Given the description of an element on the screen output the (x, y) to click on. 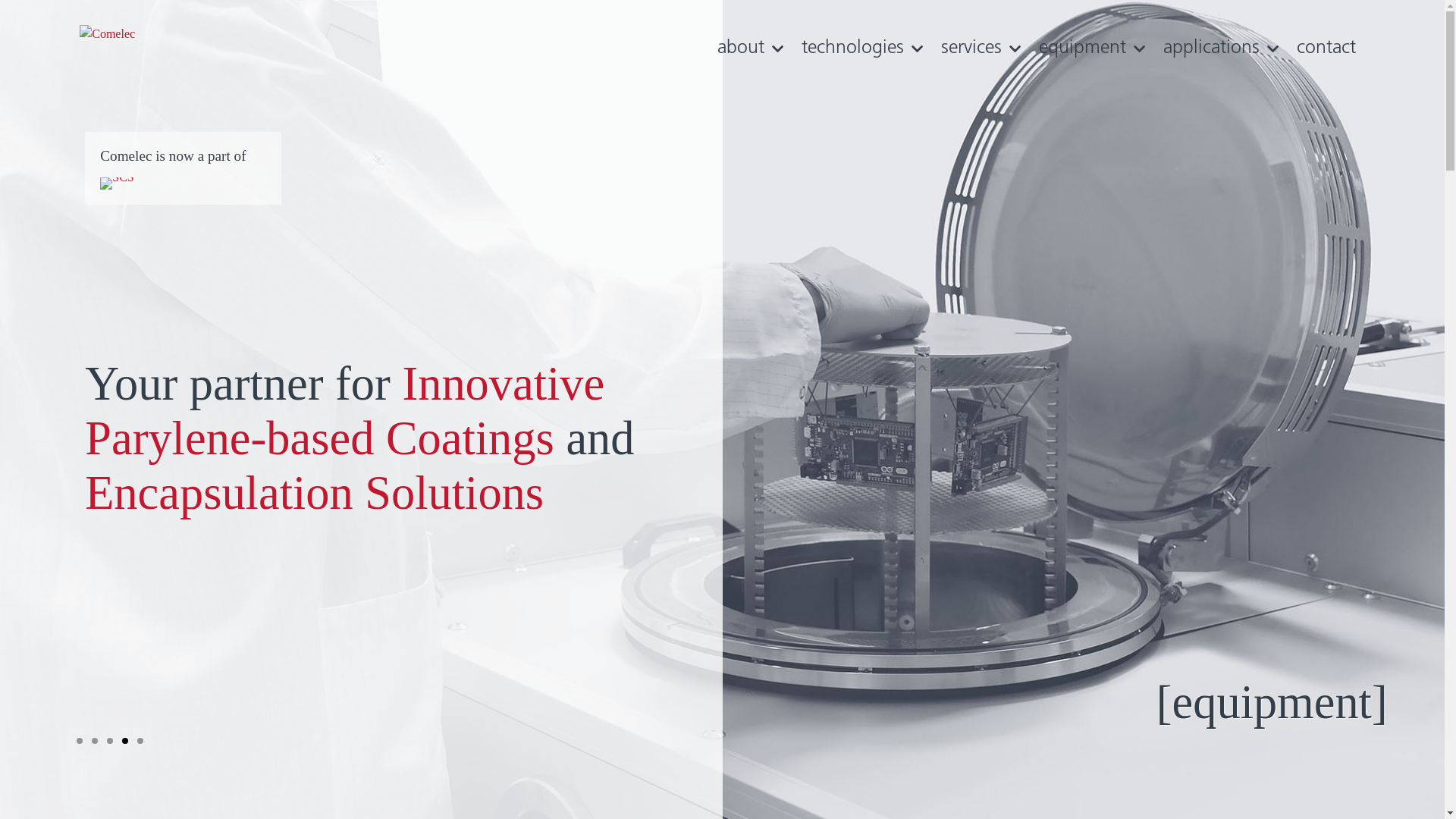
applications Element type: text (1220, 48)
contact Element type: text (1326, 48)
technologies Element type: text (861, 48)
equipment Element type: text (1091, 48)
about Element type: text (750, 48)
services Element type: text (980, 48)
